Given the description of an element on the screen output the (x, y) to click on. 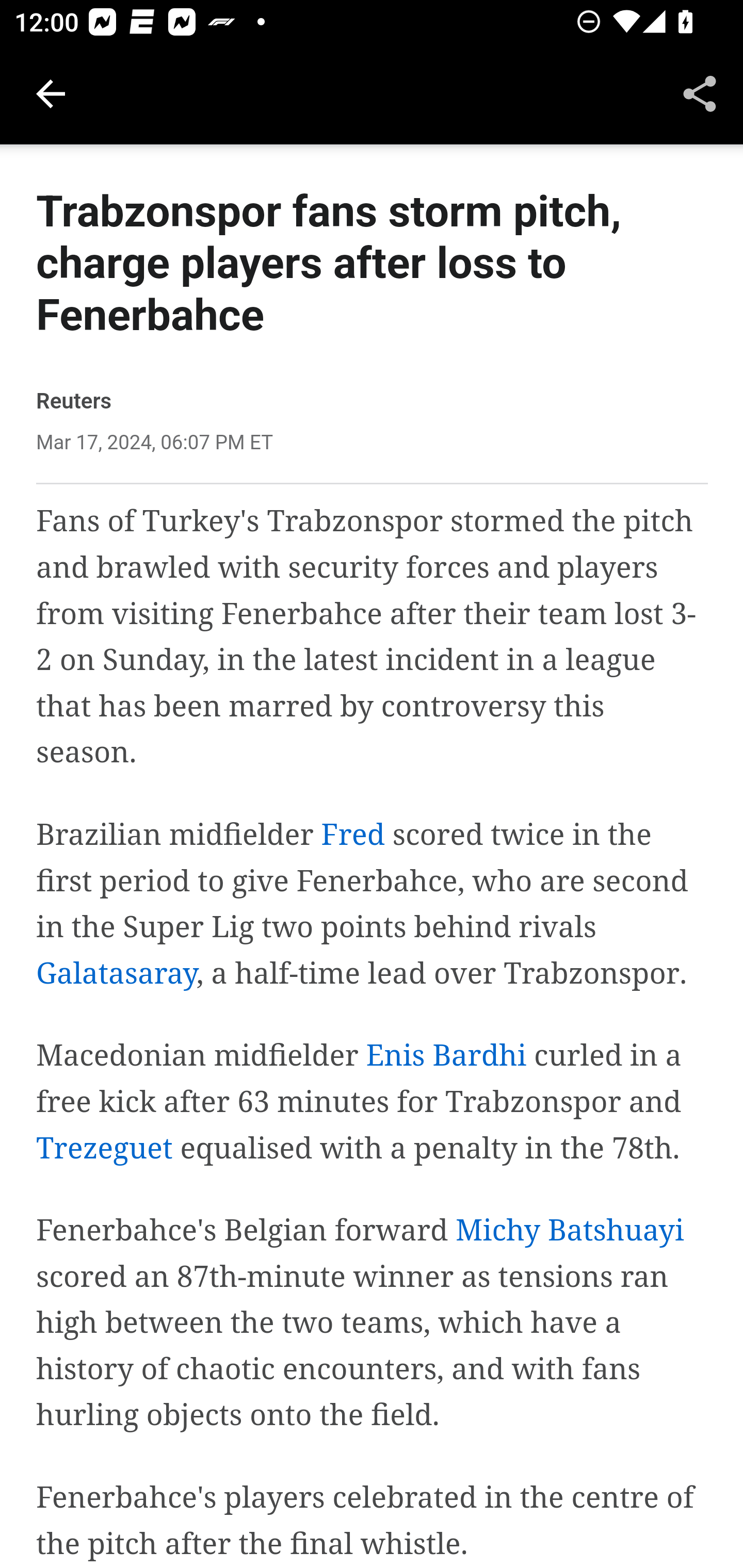
Navigate up (50, 93)
Share (699, 93)
